Given the description of an element on the screen output the (x, y) to click on. 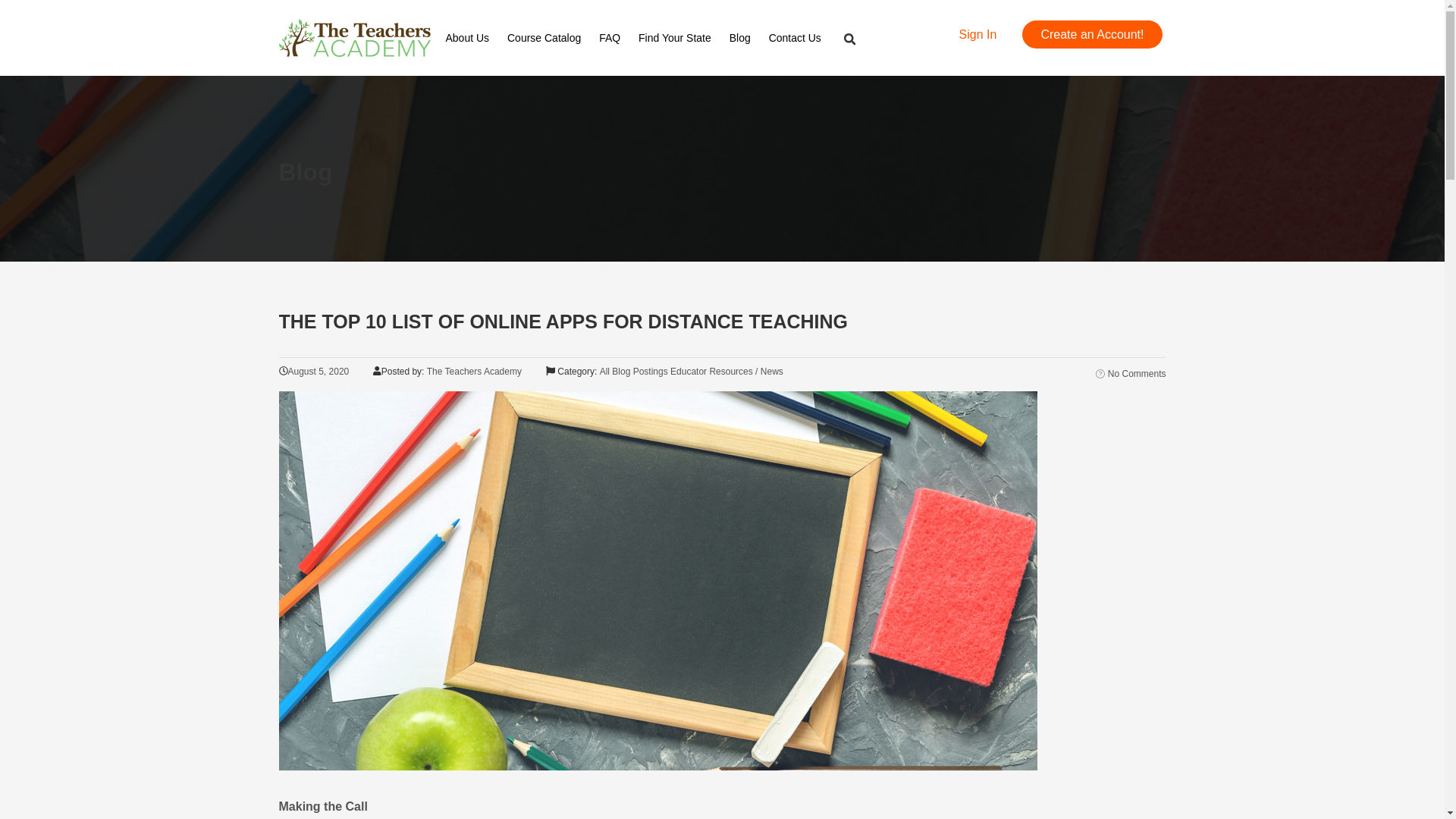
All Blog Postings (633, 371)
About Us (475, 38)
Create an Account! (1091, 34)
Course Catalog (550, 38)
No Comments (1131, 373)
Sign In (977, 34)
Contact Us (801, 38)
About Us Course Catalog FAQ Find Your State Blog Contact Us (640, 37)
Find Your State (682, 38)
Blog (747, 38)
FAQ (616, 38)
